Given the description of an element on the screen output the (x, y) to click on. 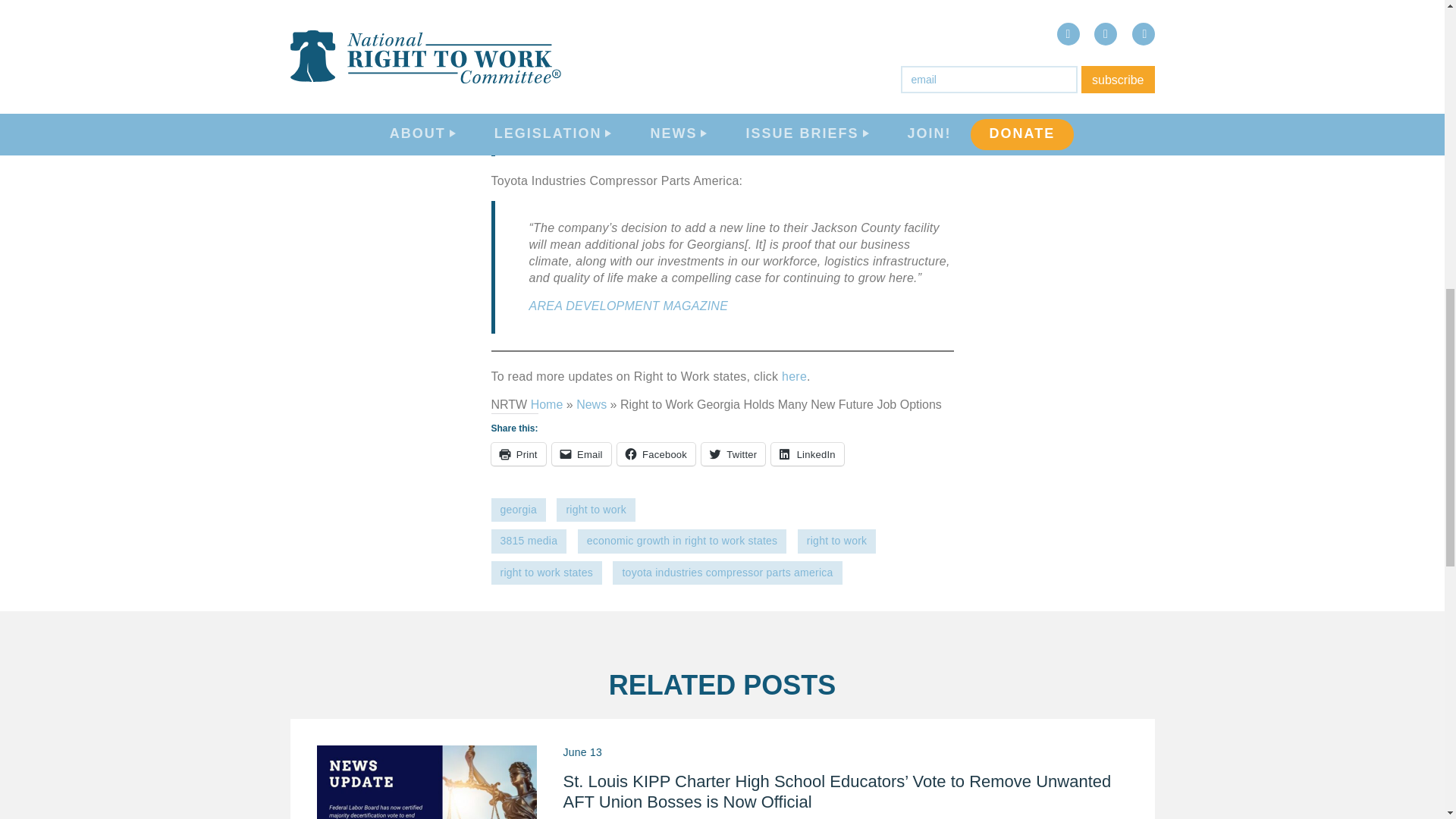
Click to print (519, 454)
NRTWC on YouTube (1311, 199)
NRTWC on Facebook (1228, 199)
Click to share on Facebook (656, 454)
Click to email a link to a friend (581, 454)
Click to share on LinkedIn (807, 454)
NRTWC on Twitter (1269, 199)
Click to share on Twitter (733, 454)
